Given the description of an element on the screen output the (x, y) to click on. 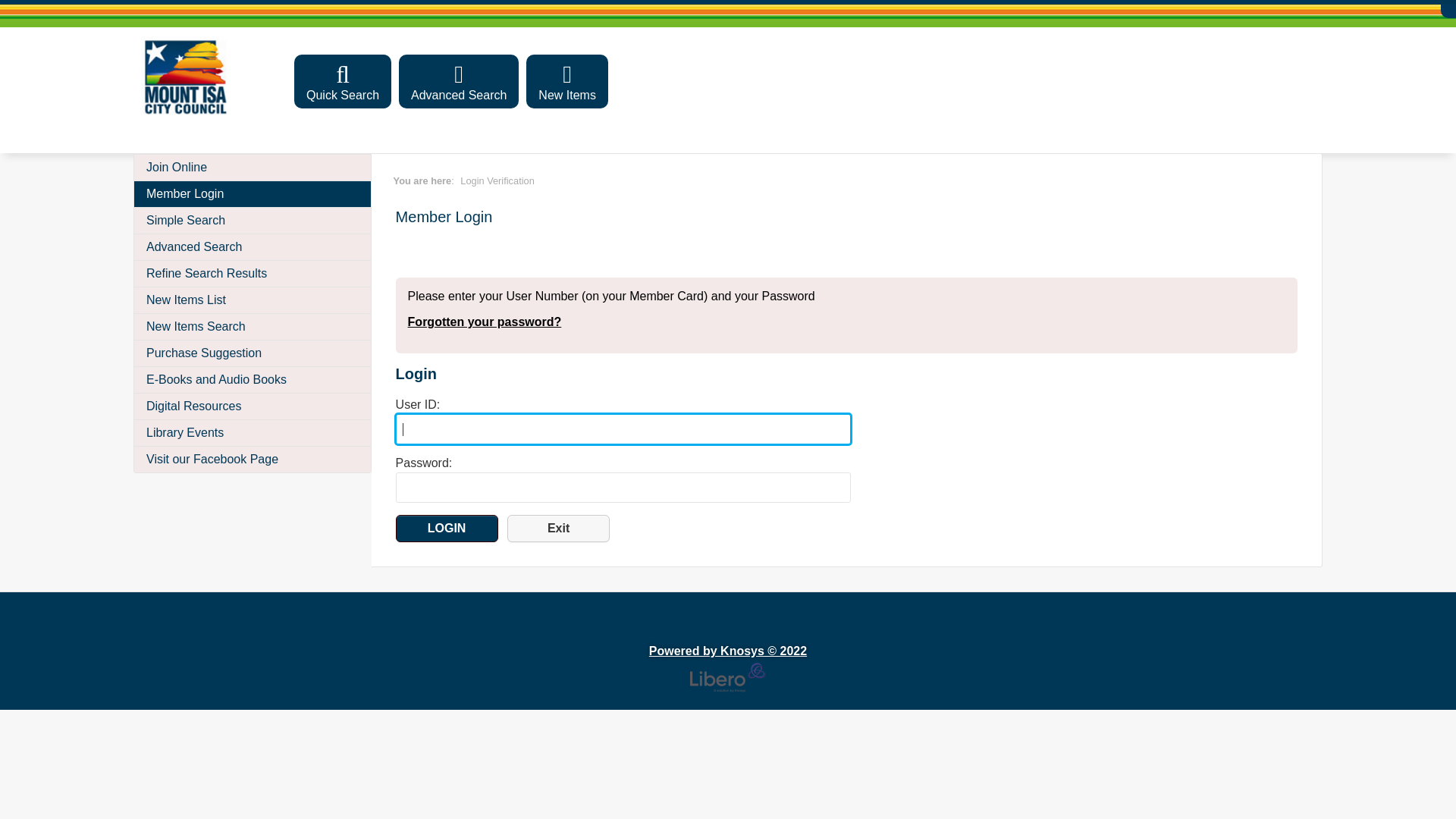
Visit our Facebook Page Element type: text (252, 458)
Purchase Suggestion Element type: text (252, 352)
Visit Libero WebOPAC Element type: hover (186, 76)
New Items Search Element type: text (252, 326)
Digital Resources Element type: text (252, 405)
Quick Search Element type: text (342, 81)
Forgotten your password? Element type: text (484, 321)
Refine Search Results Element type: text (252, 273)
E-Books and Audio Books Element type: text (252, 379)
Library Events Element type: text (252, 432)
Simple Search Element type: text (252, 220)
Advanced Search Element type: text (458, 81)
New Items Element type: text (567, 81)
Join Online Element type: text (252, 166)
New Items List Element type: text (252, 299)
Advanced Search Element type: text (252, 246)
Member Login Element type: text (252, 193)
Catalogue Element type: text (51, 652)
LOGIN Element type: text (446, 528)
